Given the description of an element on the screen output the (x, y) to click on. 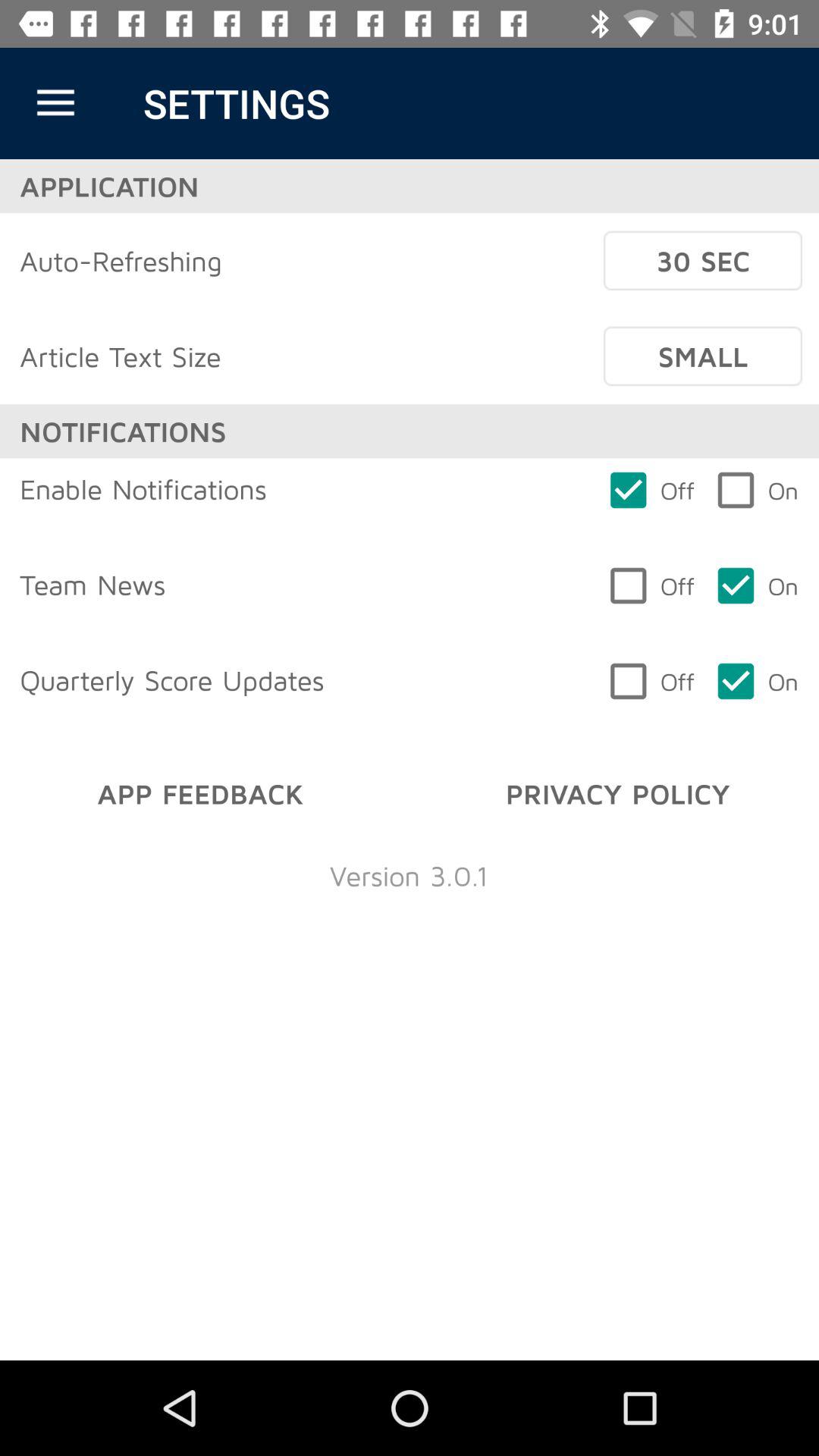
click the item to the left of settings (55, 103)
